Given the description of an element on the screen output the (x, y) to click on. 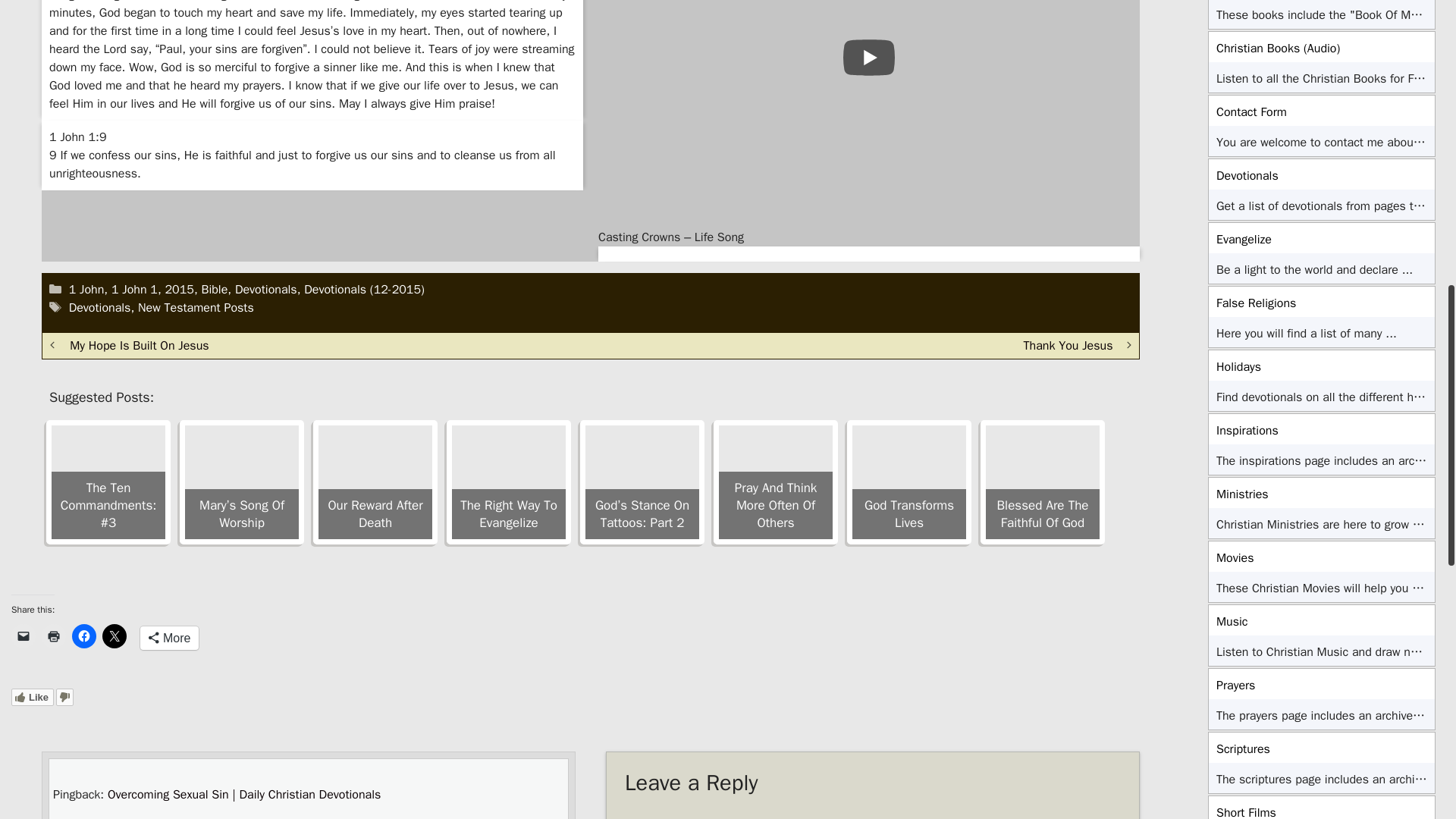
Click to share on Facebook (83, 636)
Click to print (53, 636)
Click to email a link to a friend (22, 636)
Click to share on X (113, 636)
